Given the description of an element on the screen output the (x, y) to click on. 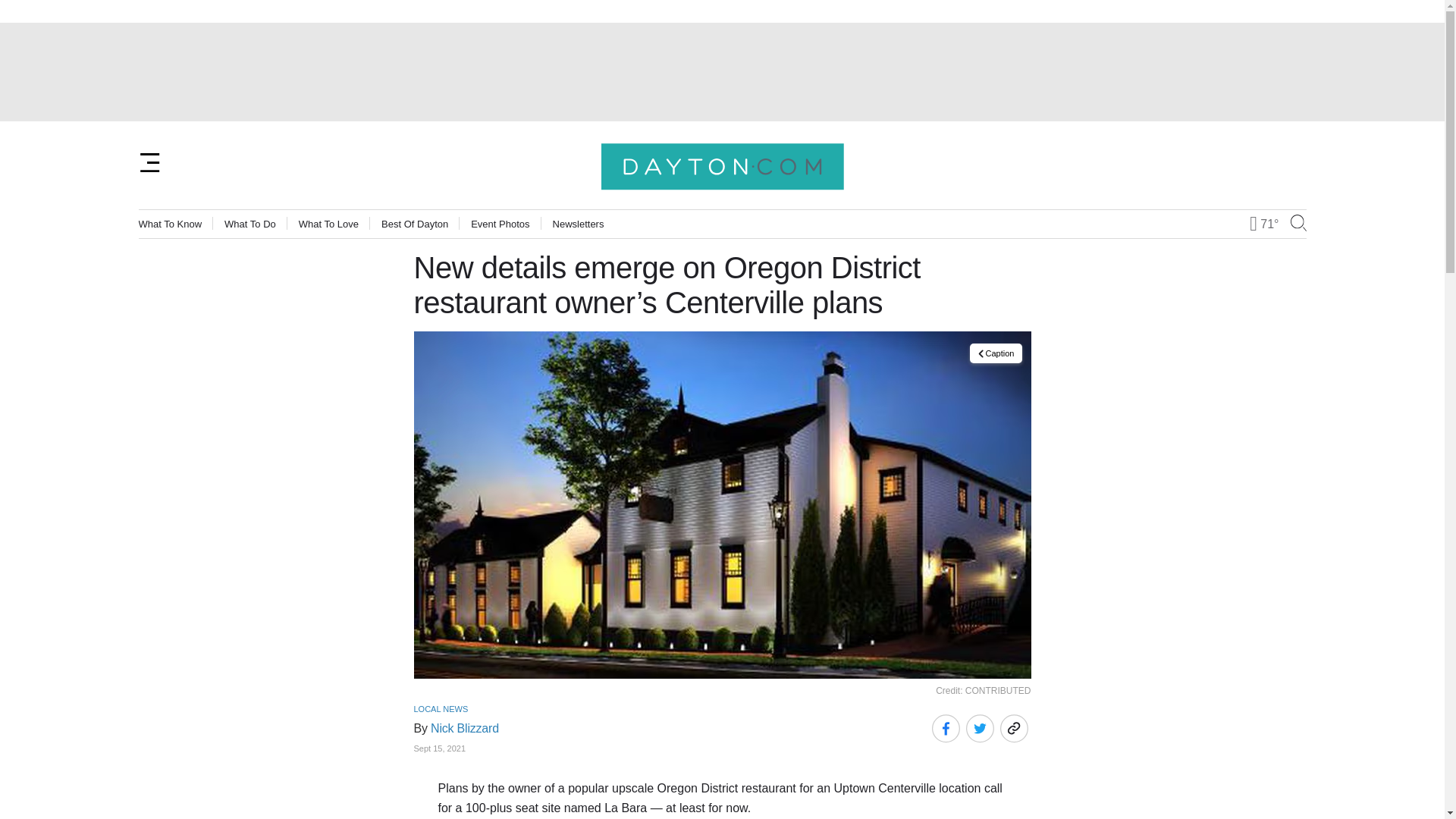
Newsletters (578, 224)
Event Photos (499, 224)
What To Love (328, 224)
What To Know (170, 224)
Best Of Dayton (414, 224)
What To Do (250, 224)
